Given the description of an element on the screen output the (x, y) to click on. 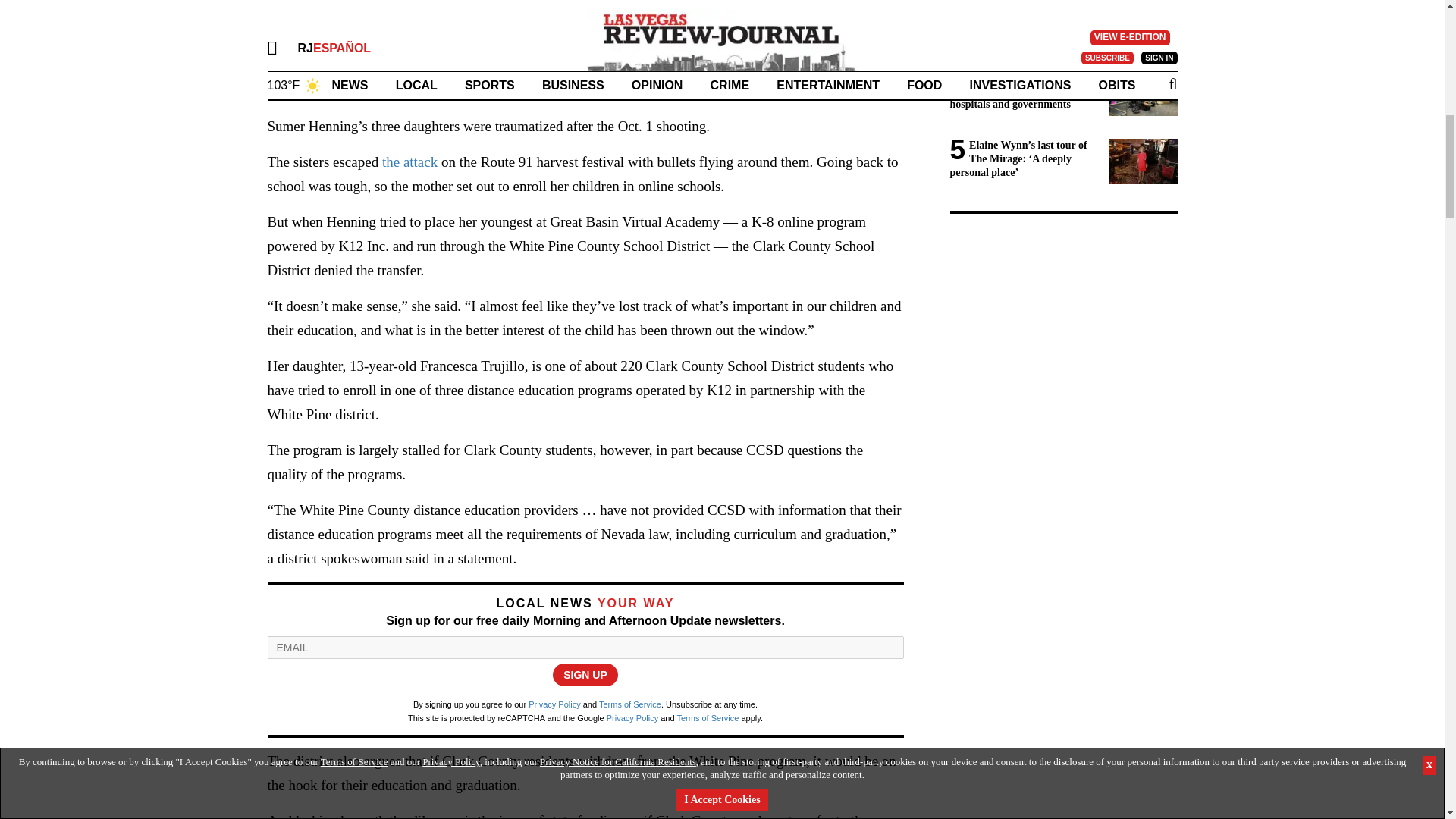
Trinity Audio Player (584, 61)
facebook like widget (557, 7)
